Given the description of an element on the screen output the (x, y) to click on. 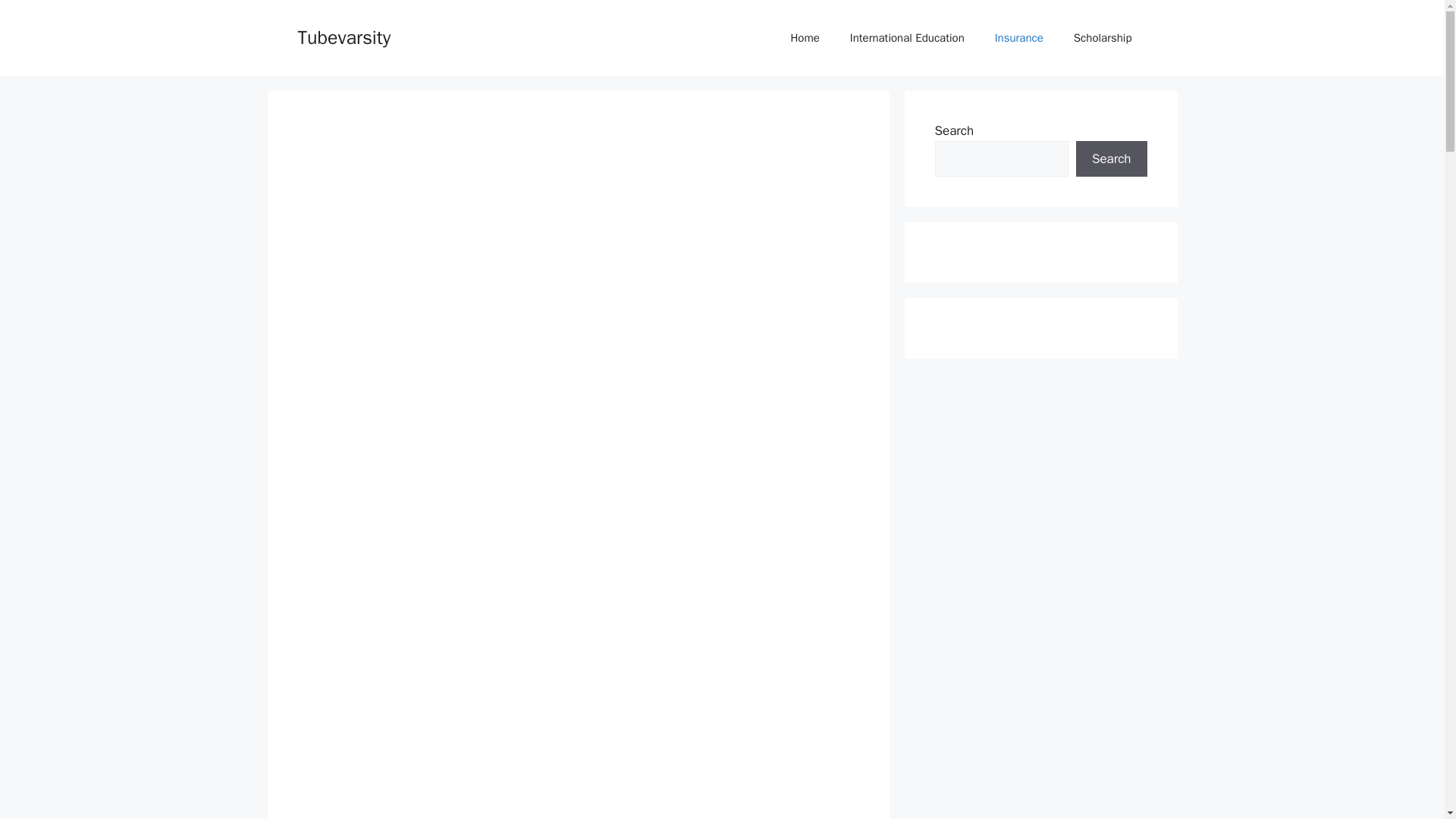
Scholarship (1102, 37)
Insurance (1018, 37)
Search (1111, 158)
Home (804, 37)
Tubevarsity (343, 37)
International Education (906, 37)
